Given the description of an element on the screen output the (x, y) to click on. 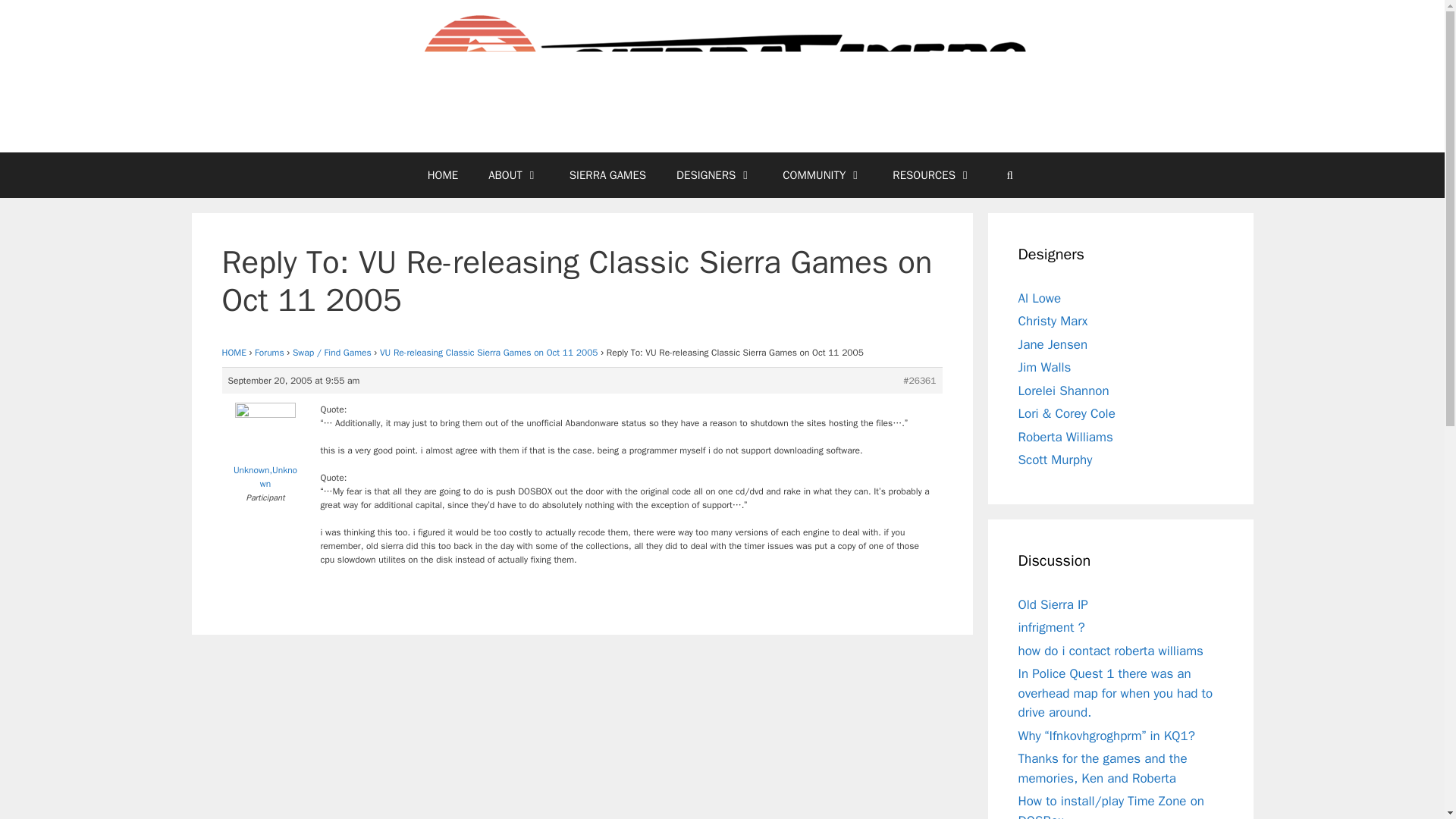
COMMUNITY (822, 175)
ABOUT (513, 175)
View Unknown,Unknown's profile (264, 449)
Al Lowe (1039, 298)
Forums (268, 352)
Christy Marx (1052, 320)
HOME (442, 175)
SIERRA GAMES (607, 175)
HOME (233, 352)
VU Re-releasing Classic Sierra Games on Oct 11 2005 (489, 352)
